Given the description of an element on the screen output the (x, y) to click on. 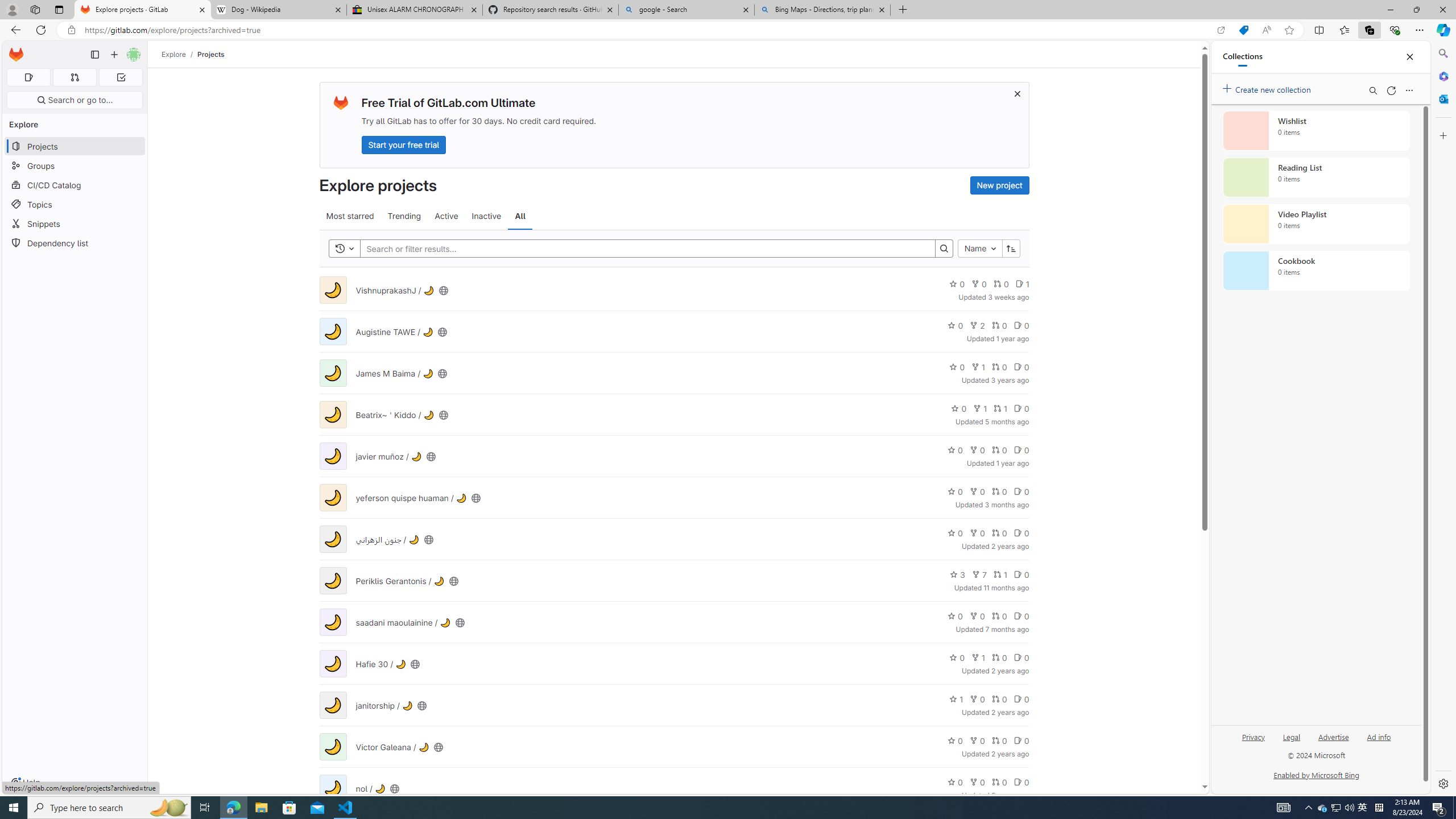
Open in app (1220, 29)
Class: s16 gl-icon gl-button-icon  (1016, 93)
Dependency list (74, 242)
More options menu (1409, 90)
Dependency list (74, 242)
To-Do list 0 (120, 76)
